Given the description of an element on the screen output the (x, y) to click on. 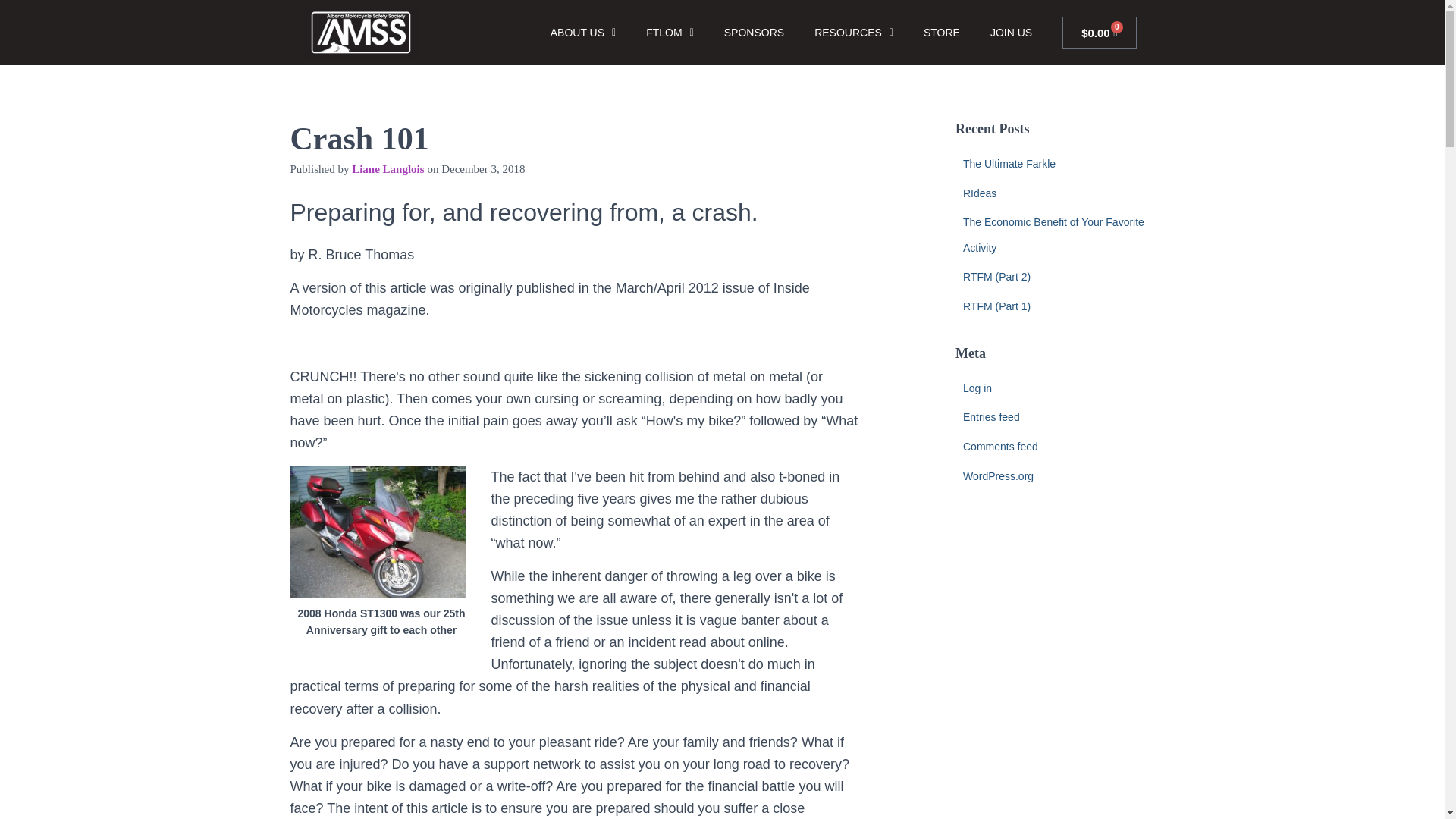
JOIN US (1010, 32)
SPONSORS (754, 32)
RESOURCES (853, 32)
FTLOM (669, 32)
STORE (941, 32)
ABOUT US (582, 32)
